Given the description of an element on the screen output the (x, y) to click on. 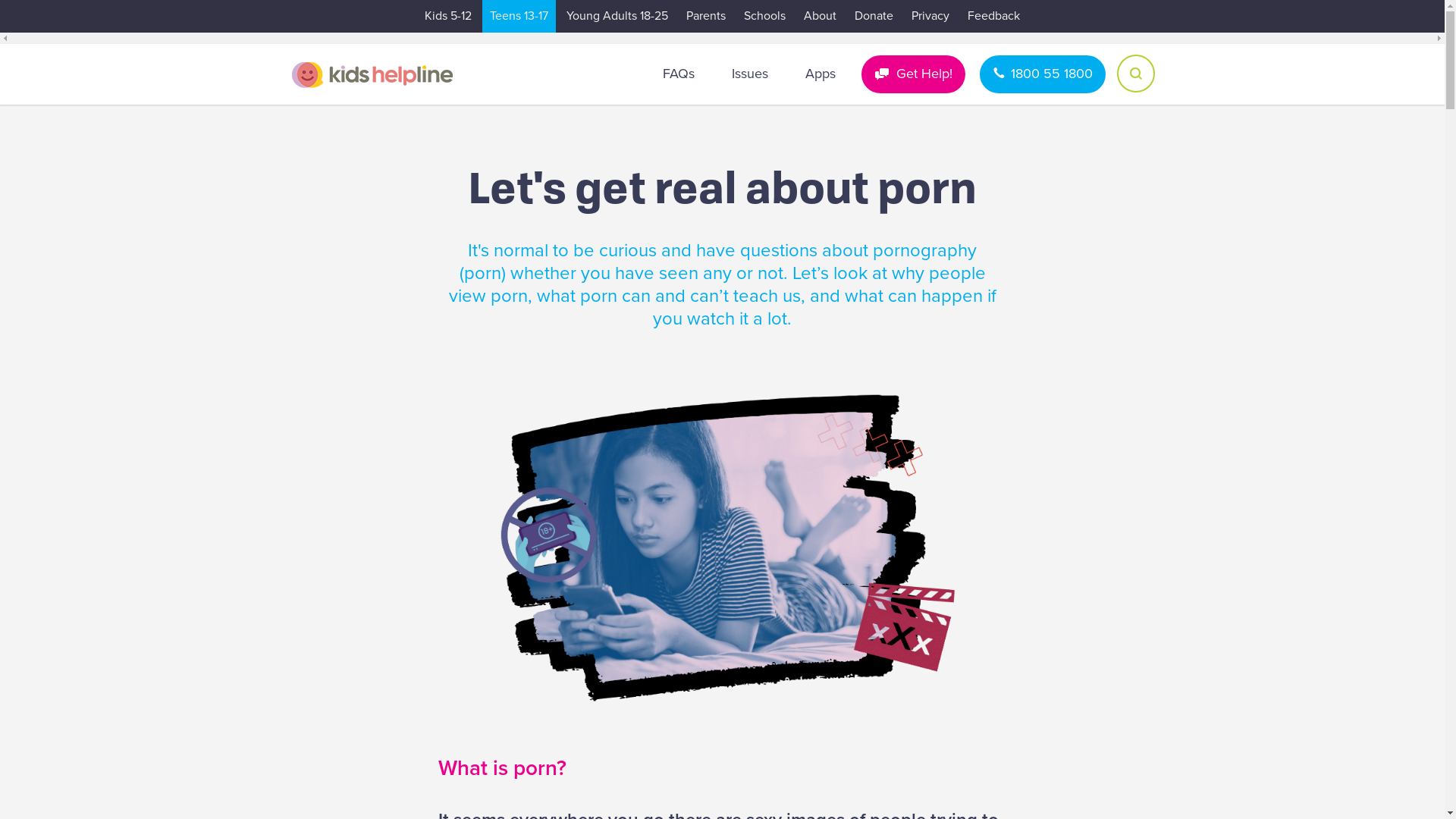
Feedback Element type: text (993, 16)
Apps Element type: text (819, 73)
Kids 5-12 Element type: text (448, 16)
Schools Element type: text (764, 16)
Parents Element type: text (705, 16)
Young Adults 18-25 Element type: text (616, 16)
1800 55 1800 Element type: text (1042, 74)
Home Element type: hover (371, 74)
Teens 13-17 Element type: text (518, 16)
Get Help! Element type: text (913, 74)
About Element type: text (820, 16)
Donate Element type: text (873, 16)
Issues Element type: text (749, 73)
FAQs Element type: text (677, 73)
Privacy Element type: text (930, 16)
Teen girl laying on her bed looking at her mobile phone Element type: hover (722, 548)
